Given the description of an element on the screen output the (x, y) to click on. 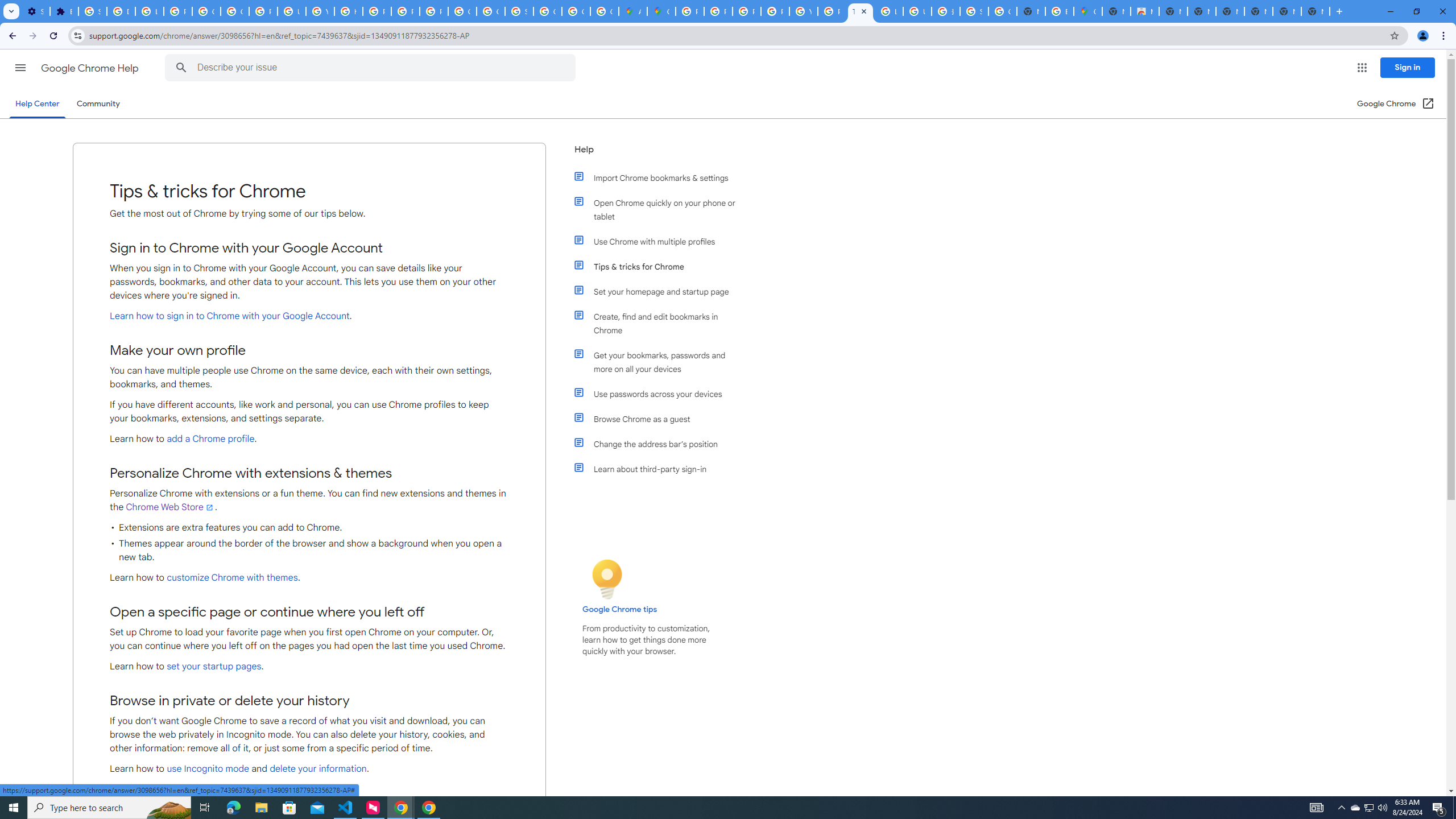
Google Chrome Help (90, 68)
Browse Chrome as a guest (661, 419)
